Given the description of an element on the screen output the (x, y) to click on. 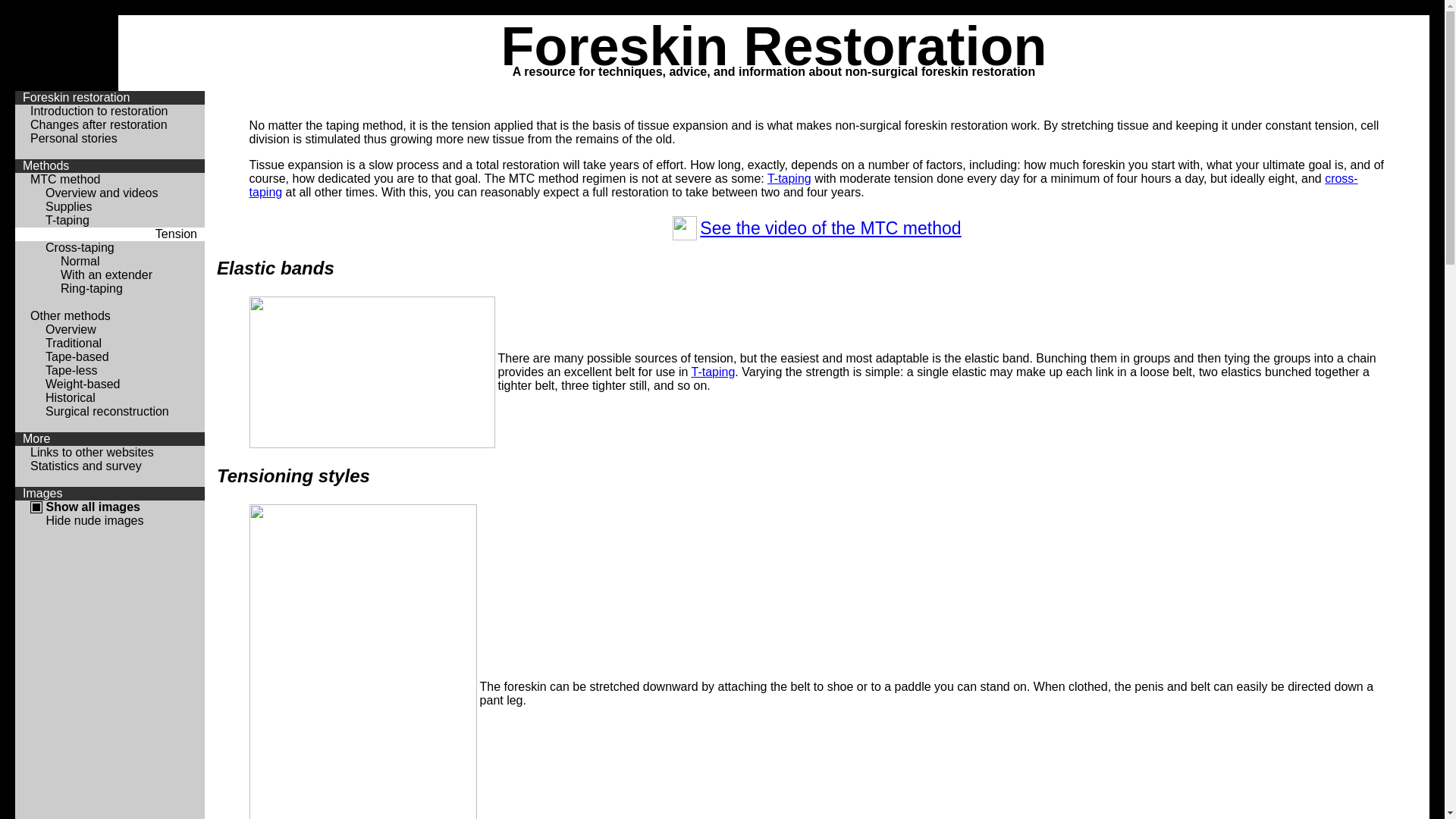
With an extender Element type: text (106, 274)
Weight-based Element type: text (82, 383)
MTC method Element type: text (65, 178)
Changes after restoration Element type: text (98, 124)
Supplies Element type: text (68, 206)
Tension Element type: text (176, 233)
Statistics and survey Element type: text (85, 465)
Cross-taping Element type: text (79, 247)
Other methods Element type: text (70, 315)
Ring-taping Element type: text (91, 288)
T-taping Element type: text (713, 371)
Personal stories Element type: text (73, 137)
Introduction to restoration Element type: text (98, 110)
Tape-less Element type: text (71, 370)
Overview Element type: text (70, 329)
T-taping Element type: text (67, 219)
See the video of the MTC method Element type: text (829, 228)
Traditional Element type: text (73, 342)
Hide nude images Element type: text (94, 520)
Normal Element type: text (80, 260)
Links to other websites Element type: text (91, 451)
Surgical reconstruction Element type: text (107, 410)
Historical Element type: text (70, 397)
Tape-based Element type: text (77, 356)
T-taping Element type: text (789, 178)
cross-taping Element type: text (803, 185)
Overview and videos Element type: text (101, 192)
